Given the description of an element on the screen output the (x, y) to click on. 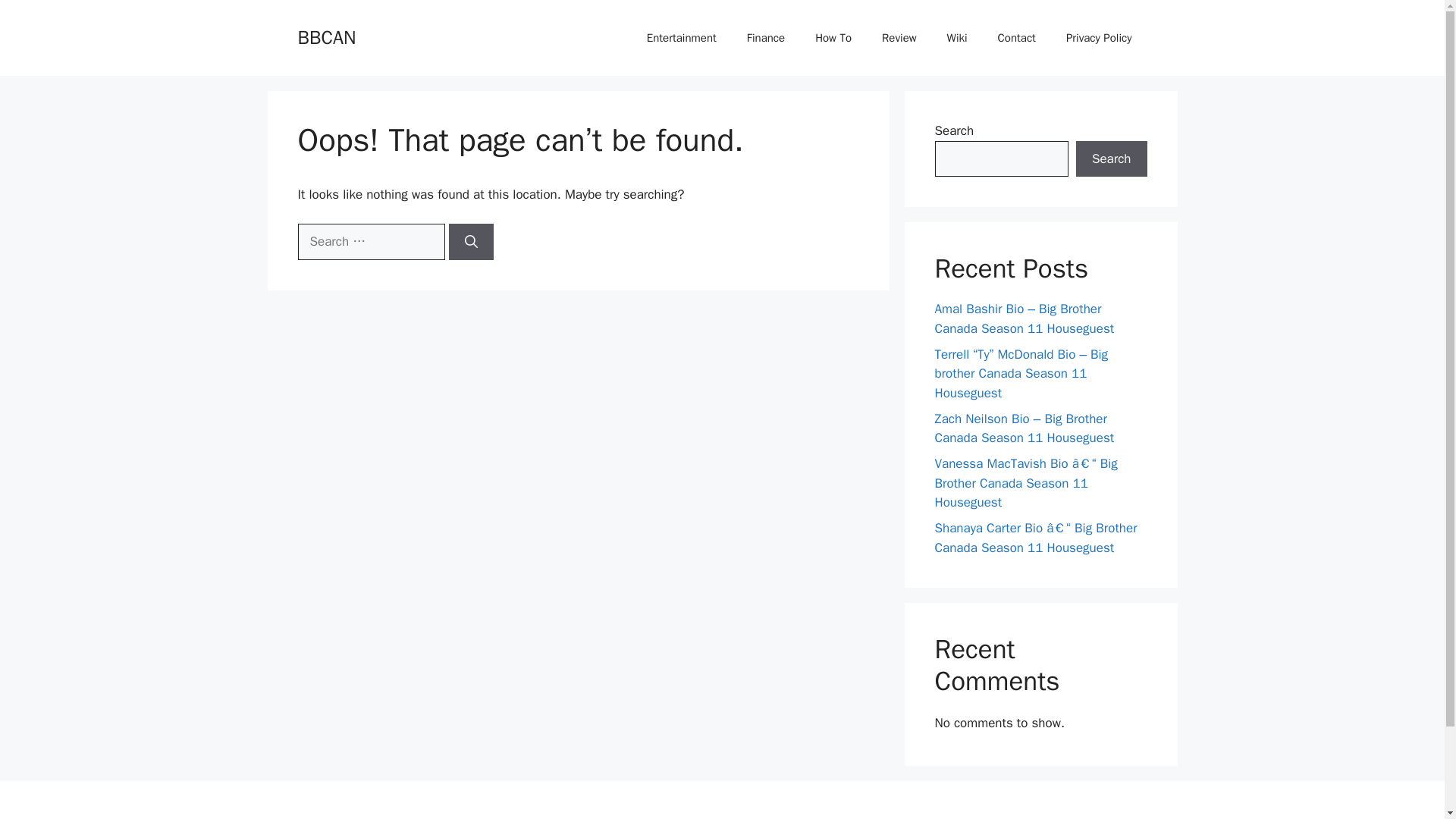
Finance (765, 37)
Review (898, 37)
Search (1111, 158)
How To (832, 37)
Wiki (956, 37)
Contact (1016, 37)
BBCAN (326, 37)
Search for: (370, 241)
Entertainment (681, 37)
Privacy Policy (1099, 37)
